Given the description of an element on the screen output the (x, y) to click on. 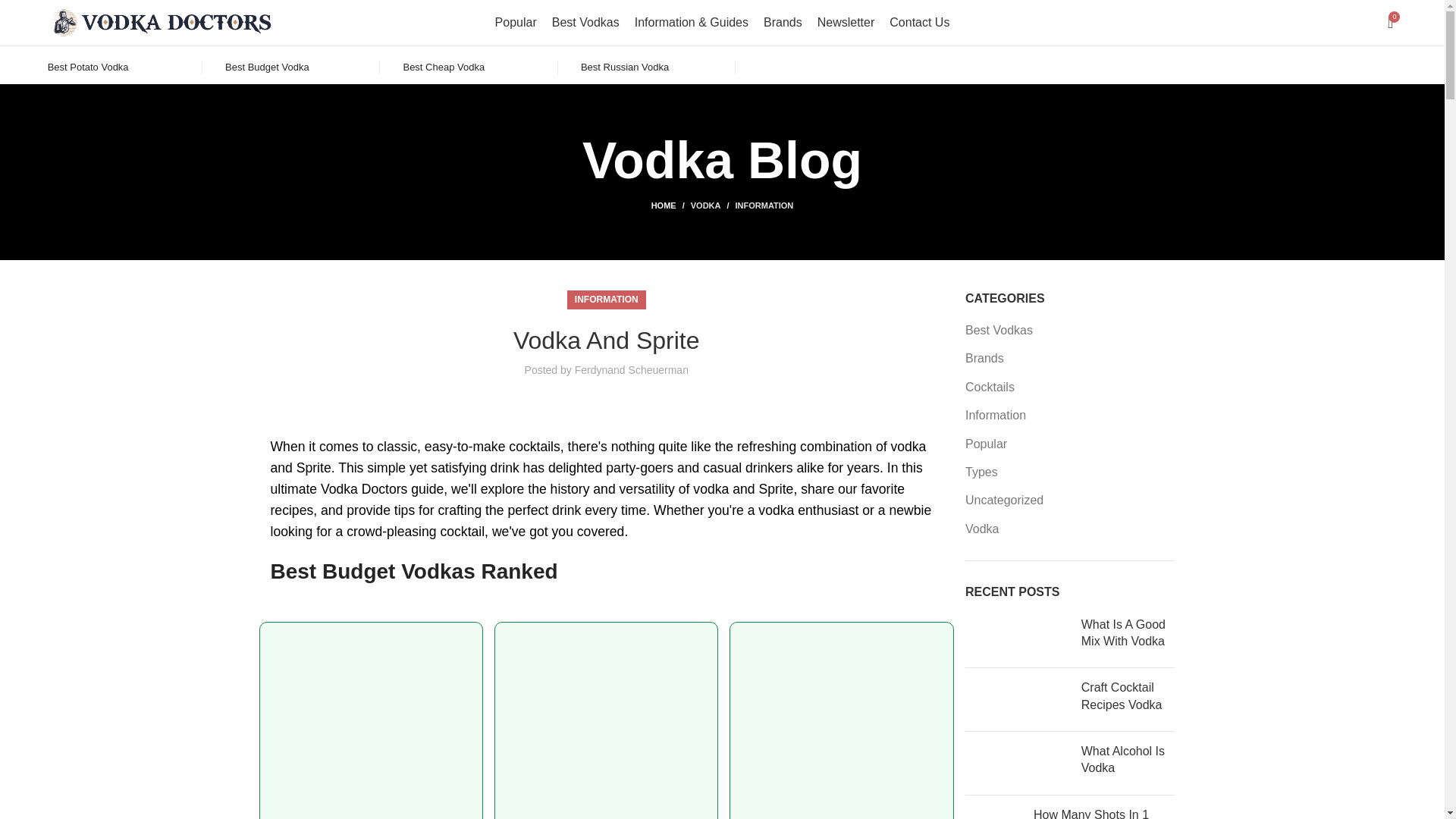
Best Cheap Vodka (443, 66)
INFORMATION (764, 204)
HOME (670, 205)
Best Potato Vodka (88, 66)
VODKA (705, 204)
Brands (782, 22)
Ferdynand Scheuerman (631, 369)
Best Budget Vodka (266, 66)
Newsletter (845, 22)
Popular (515, 22)
